Given the description of an element on the screen output the (x, y) to click on. 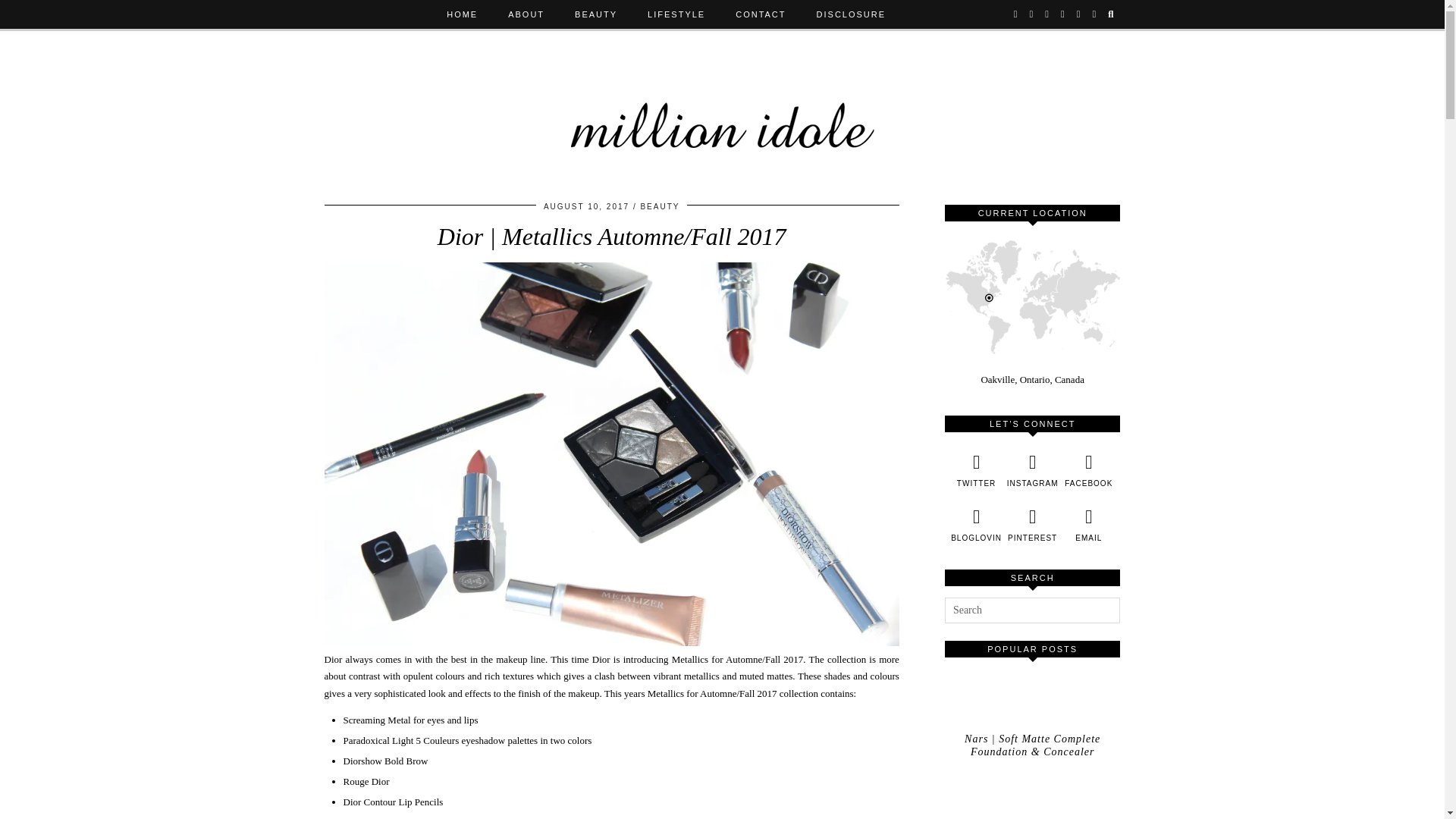
HOME (461, 14)
ABOUT (526, 14)
LIFESTYLE (675, 14)
Million Idole (722, 111)
BEAUTY (595, 14)
